Given the description of an element on the screen output the (x, y) to click on. 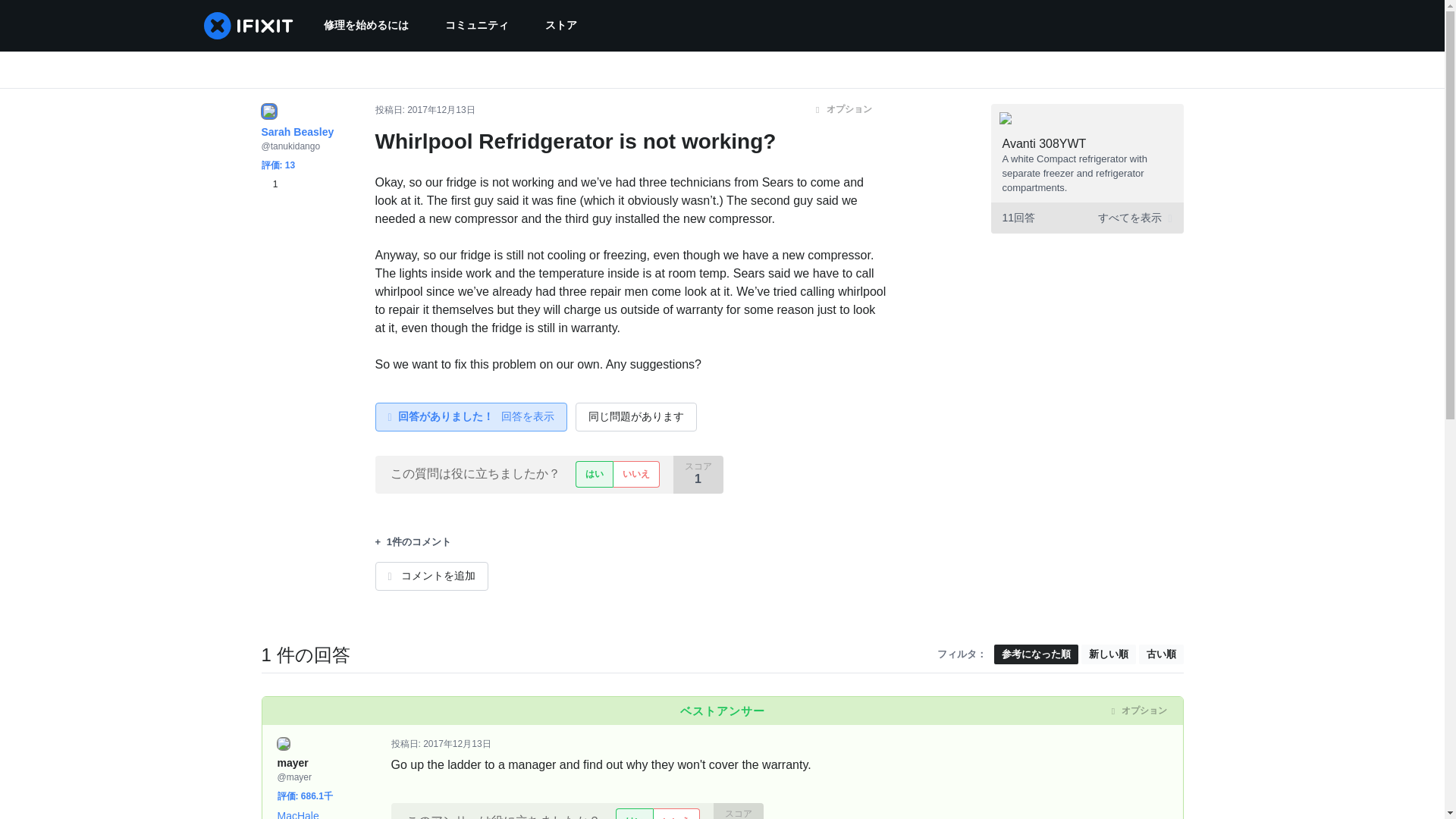
MacHale Enterprises (304, 814)
Wed, 13 Dec 2017 11:17:27 -0700 (440, 109)
Avanti 308YWT (1044, 143)
1 (269, 184)
Wed, 13 Dec 2017 12:47:12 -0700 (456, 743)
